Given the description of an element on the screen output the (x, y) to click on. 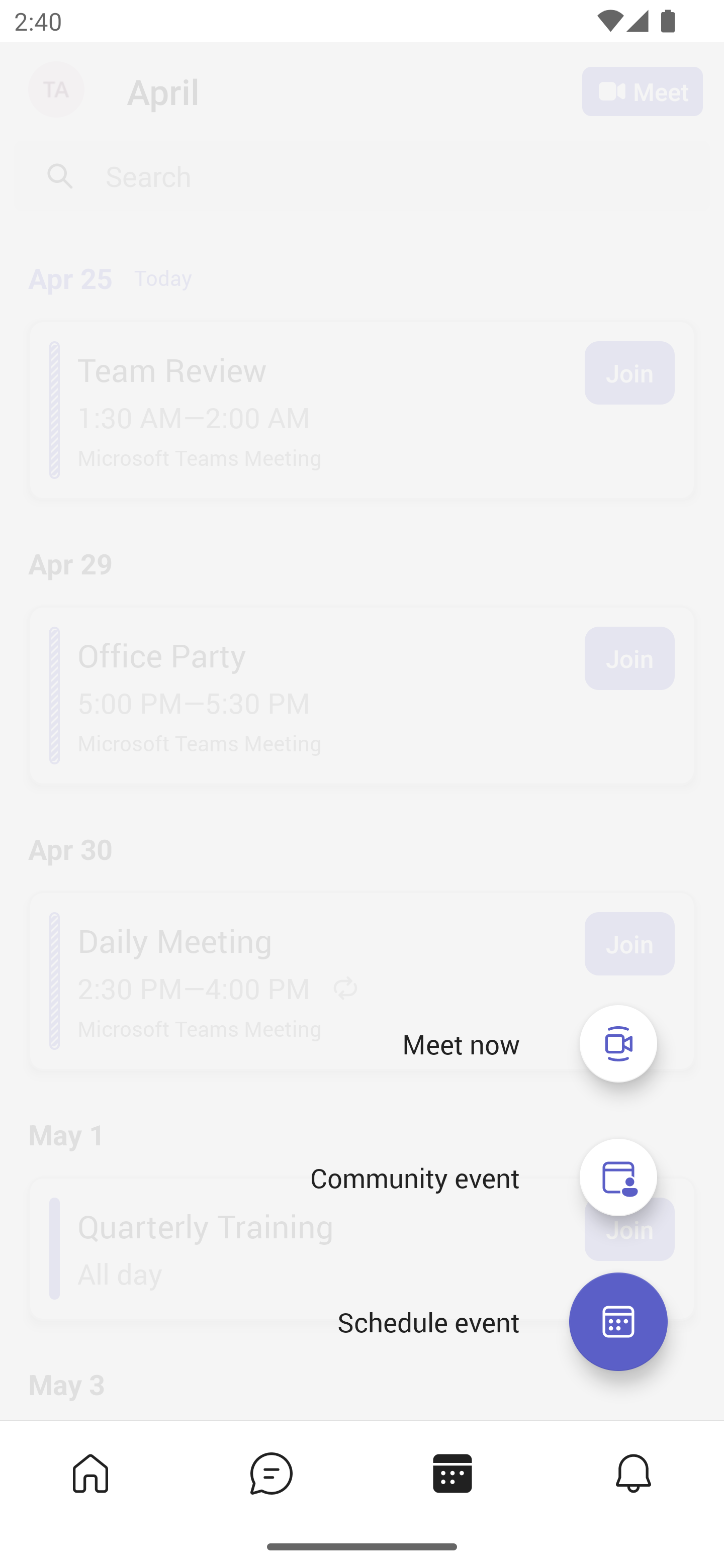
Join (629, 943)
Meet now (618, 1043)
Meet now (461, 1044)
Community event (618, 1177)
Community event (414, 1177)
Schedule event (618, 1321)
Schedule event (428, 1321)
Home tab,1 of 4, not selected (90, 1472)
Chat tab,2 of 4, not selected (271, 1472)
Calendar tab, 3 of 4 (452, 1472)
Activity tab,4 of 4, not selected (633, 1472)
